Given the description of an element on the screen output the (x, y) to click on. 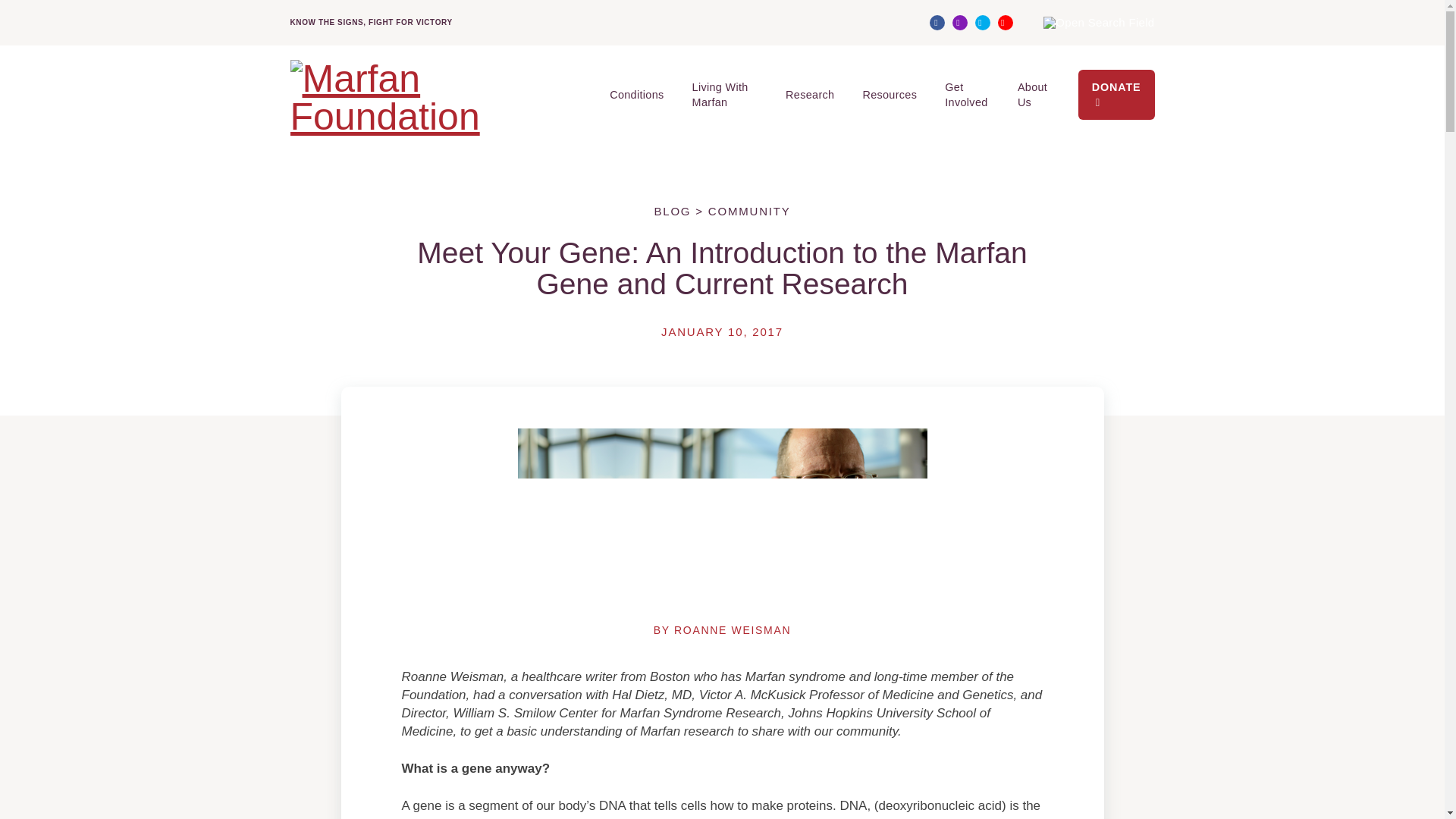
Facebook (937, 22)
Roanne Weisman (732, 630)
Instagram (960, 22)
Twitter (982, 22)
YouTube (1005, 22)
